Given the description of an element on the screen output the (x, y) to click on. 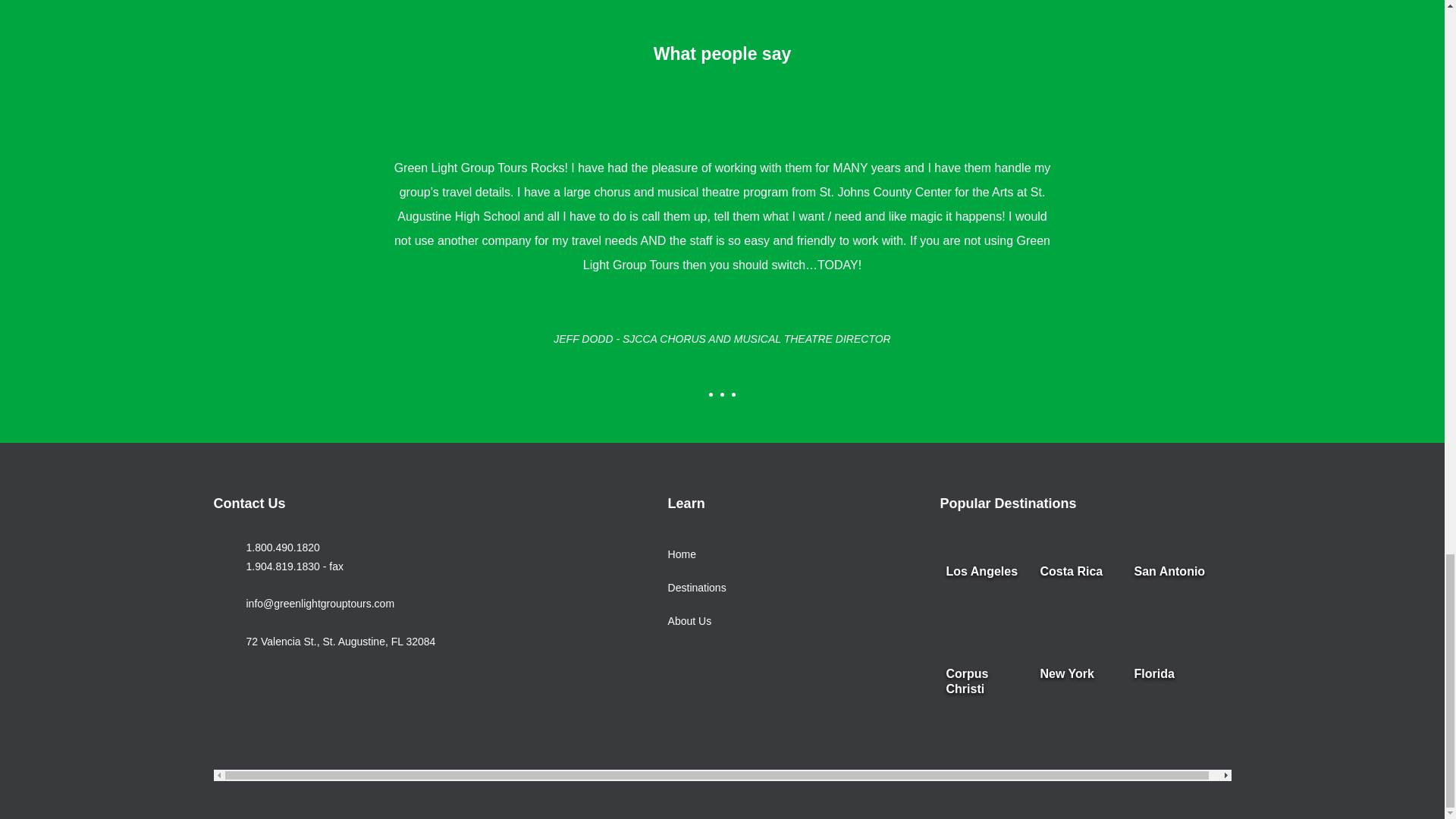
Los Angeles (985, 602)
San Antonio (1173, 602)
New York (1078, 705)
Destinations (697, 588)
Florida (1173, 705)
Costa Rica (1078, 602)
Home (697, 554)
About Us (697, 621)
Corpus Christi (985, 705)
